Given the description of an element on the screen output the (x, y) to click on. 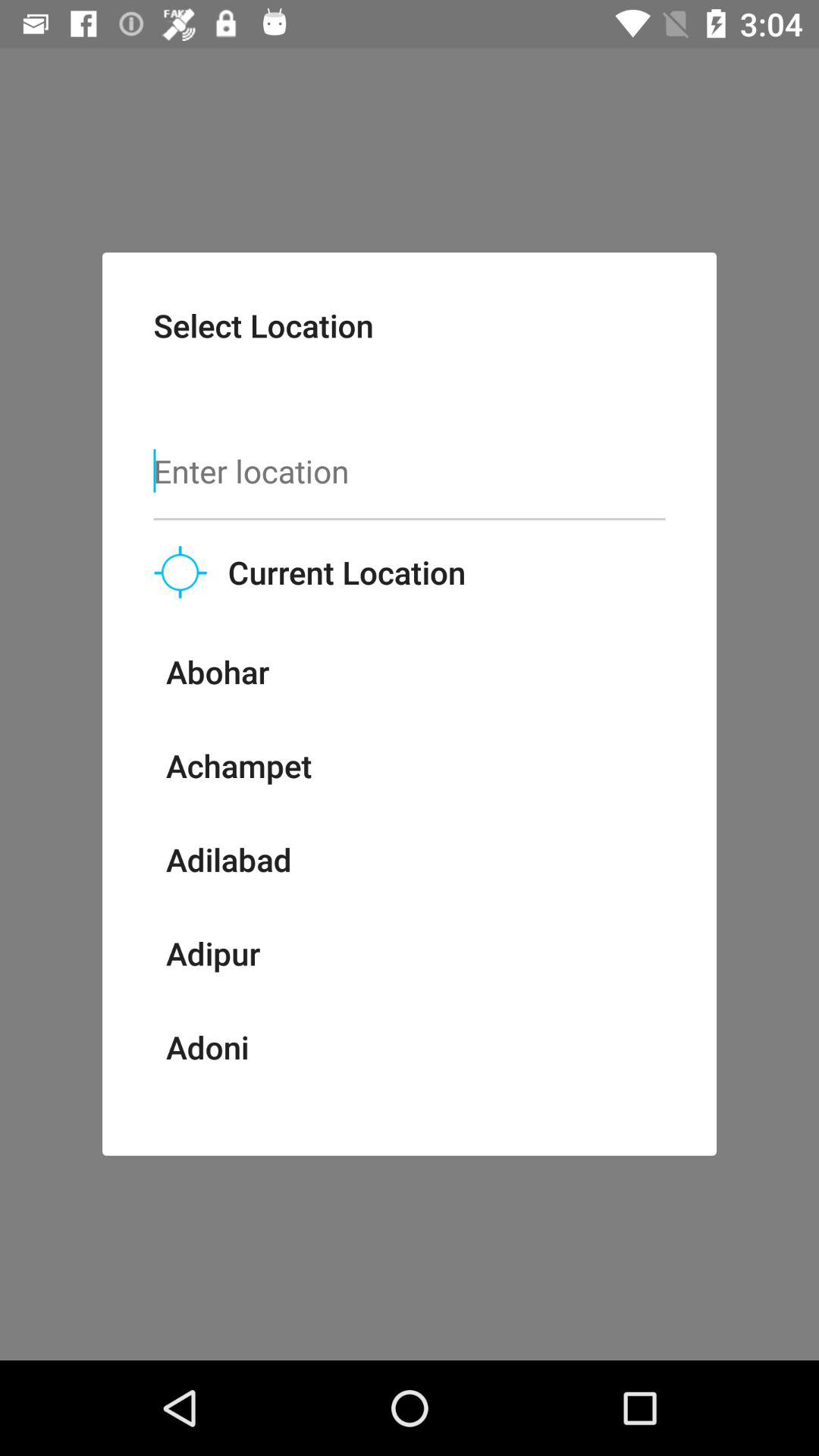
turn on the achampet item (239, 765)
